Given the description of an element on the screen output the (x, y) to click on. 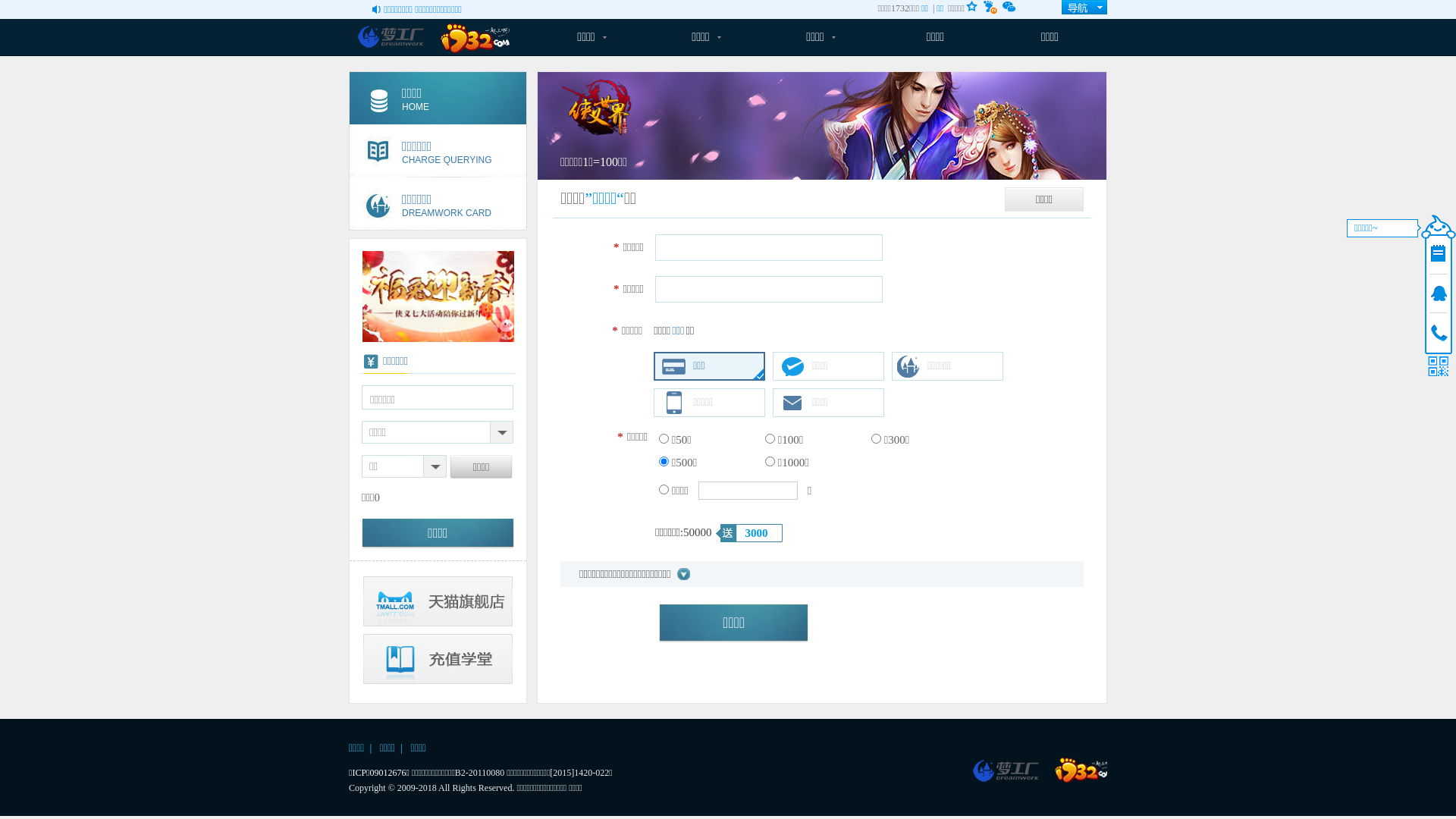
1732 Element type: text (1080, 770)
